Given the description of an element on the screen output the (x, y) to click on. 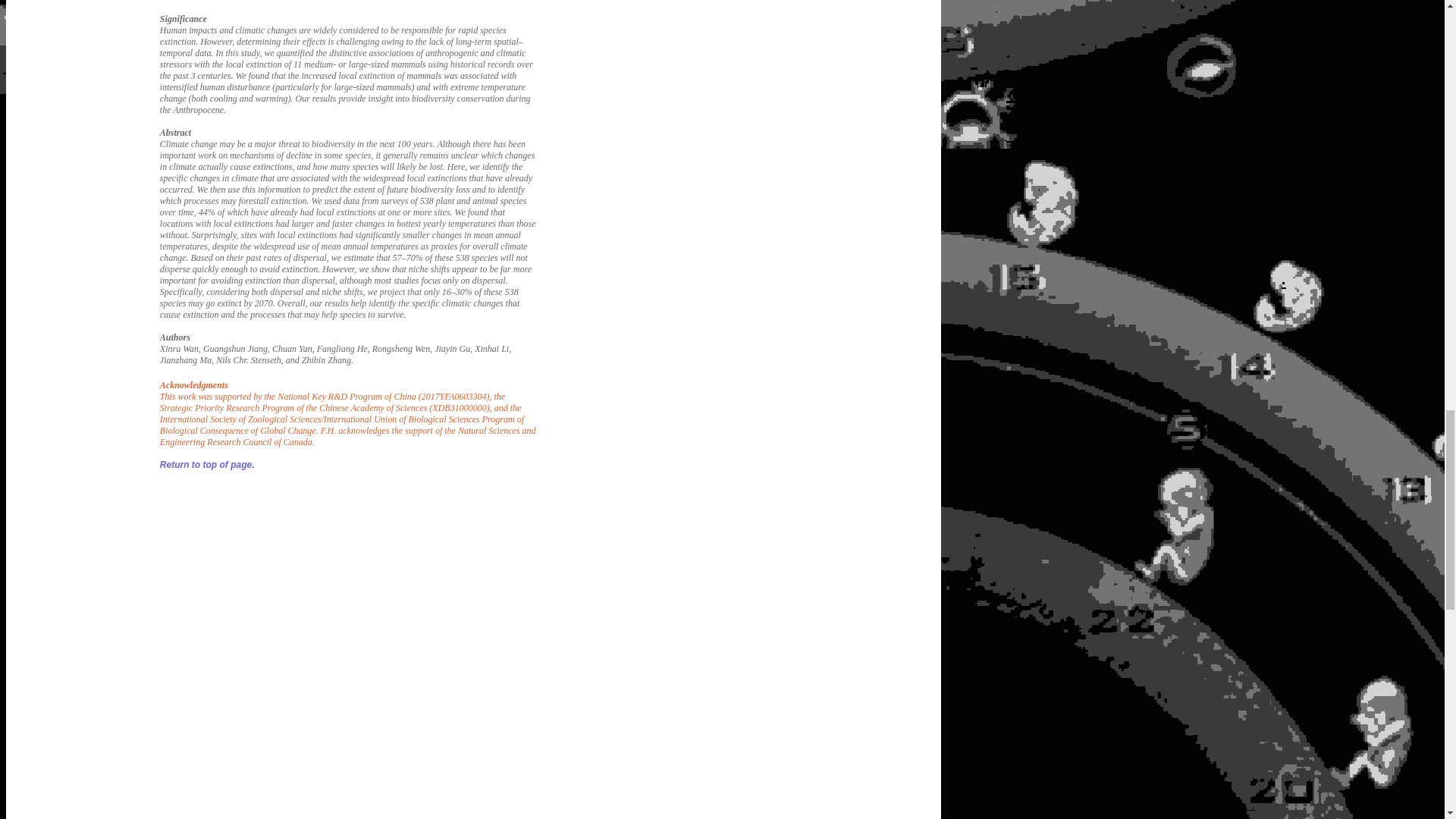
Return to top of page. (207, 464)
